Given the description of an element on the screen output the (x, y) to click on. 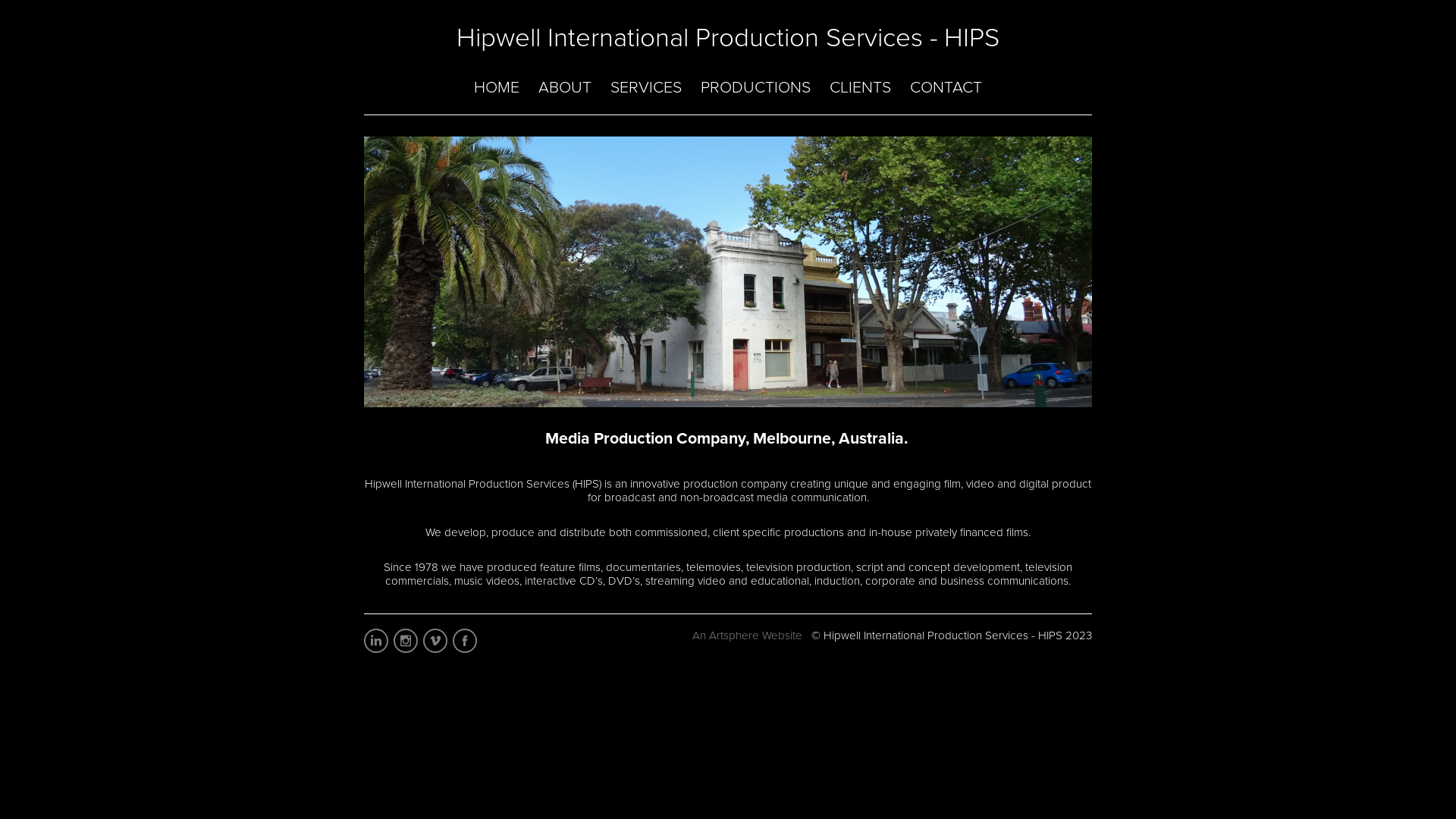
An Artsphere Website Element type: text (747, 635)
Instagram Element type: hover (406, 642)
HOME Element type: text (496, 87)
ABOUT Element type: text (564, 87)
PRODUCTIONS Element type: text (755, 87)
Facebook Element type: hover (465, 642)
LinkedIn Element type: hover (377, 642)
Vimeo Element type: hover (436, 642)
CONTACT Element type: text (946, 87)
CLIENTS Element type: text (860, 87)
SERVICES Element type: text (645, 87)
